Given the description of an element on the screen output the (x, y) to click on. 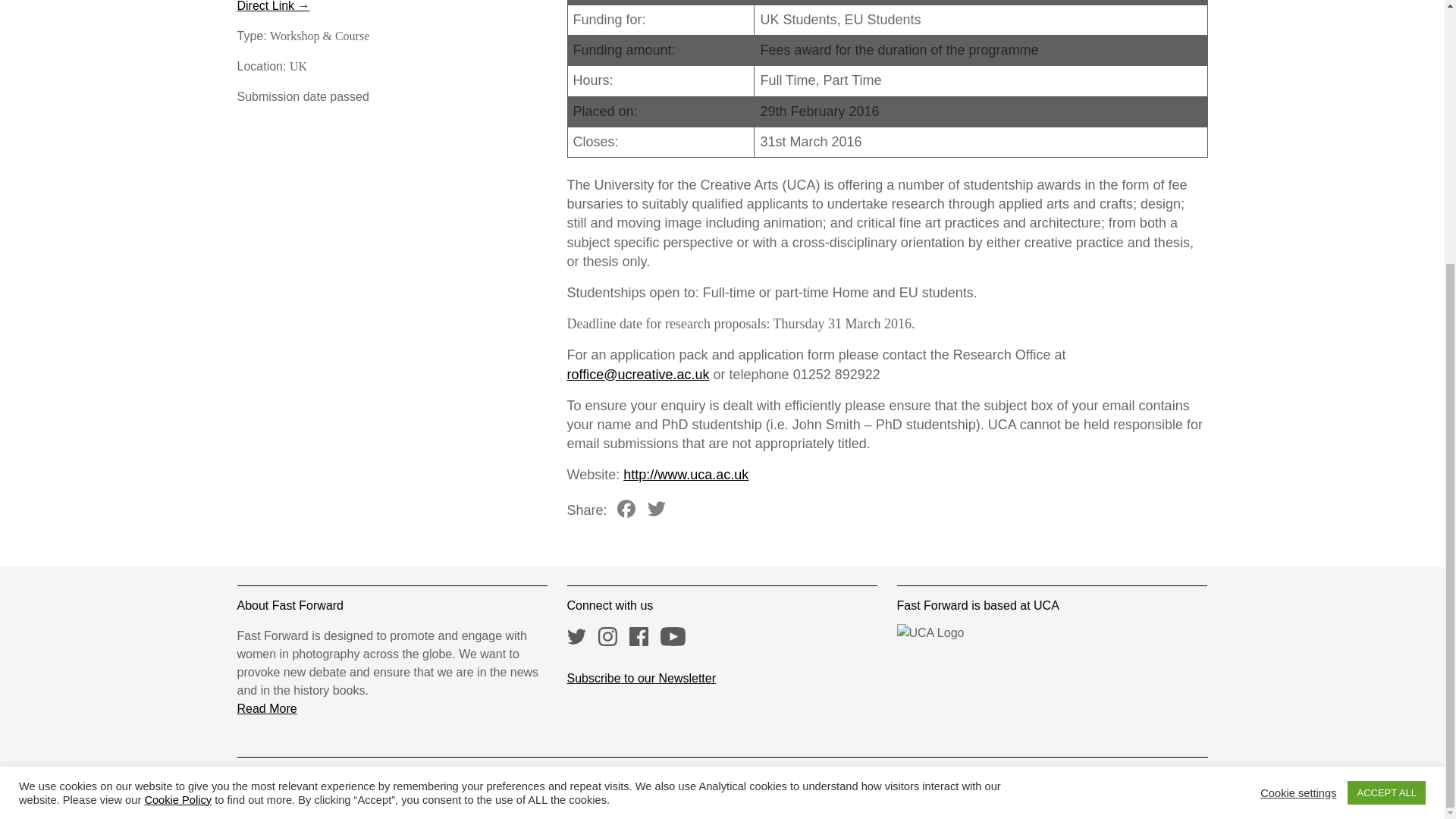
Facebook (626, 510)
Cookie Policy (177, 418)
Twitter (656, 510)
Studio Mothership (994, 781)
Read More (266, 707)
Cookie settings (1298, 411)
Link to Opportunity Website (271, 6)
ACCEPT ALL (1386, 412)
Subscribe to our Newsletter (641, 677)
Facebook (626, 510)
Twitter (656, 510)
